Given the description of an element on the screen output the (x, y) to click on. 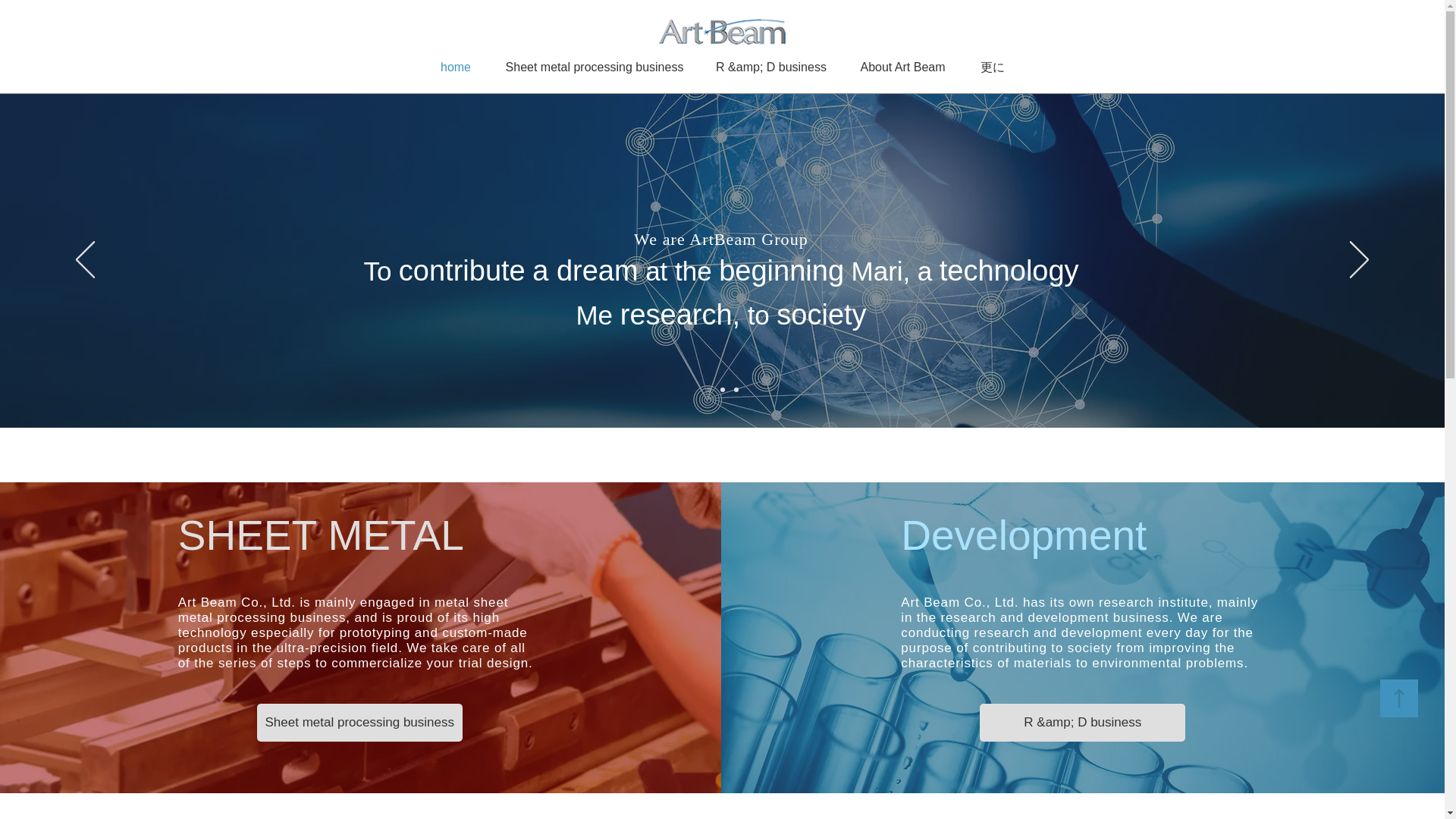
home (456, 67)
About Art Beam (901, 67)
Sheet metal processing business (360, 722)
Sheet metal processing business (593, 67)
